Given the description of an element on the screen output the (x, y) to click on. 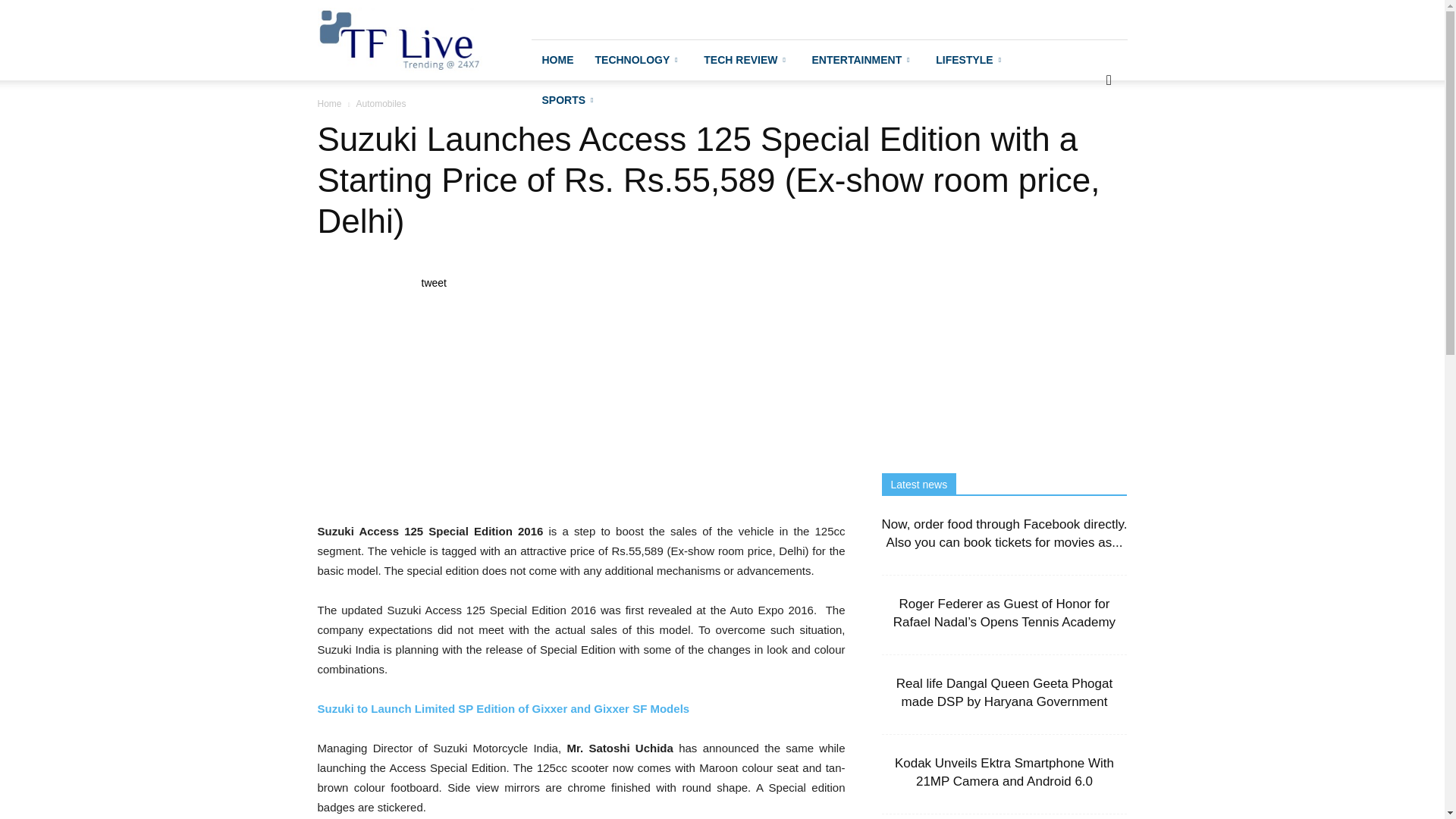
TF Live (399, 39)
TECHNOLOGY (638, 60)
HOME (557, 60)
TECH REVIEW (746, 60)
